Given the description of an element on the screen output the (x, y) to click on. 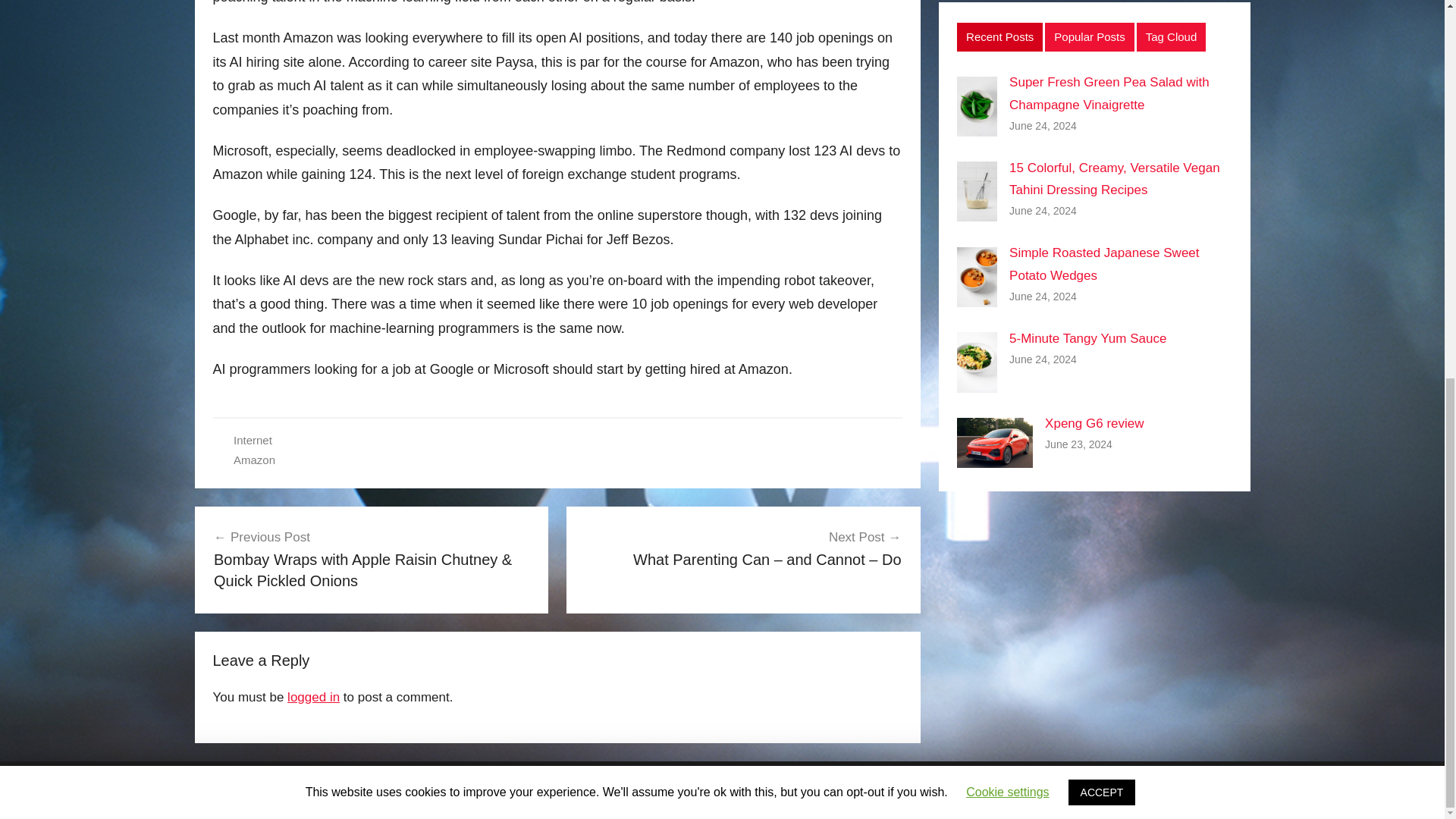
Internet (252, 440)
Popular Posts (1089, 36)
Super Fresh Green Pea Salad with Champagne Vinaigrette (1109, 93)
Recent Posts (999, 36)
Super Fresh Green Pea Salad with Champagne Vinaigrette (1109, 93)
Amazon (253, 459)
15 Colorful, Creamy, Versatile Vegan Tahini Dressing Recipes (1114, 179)
logged in (312, 697)
Tag Cloud (1172, 36)
